Given the description of an element on the screen output the (x, y) to click on. 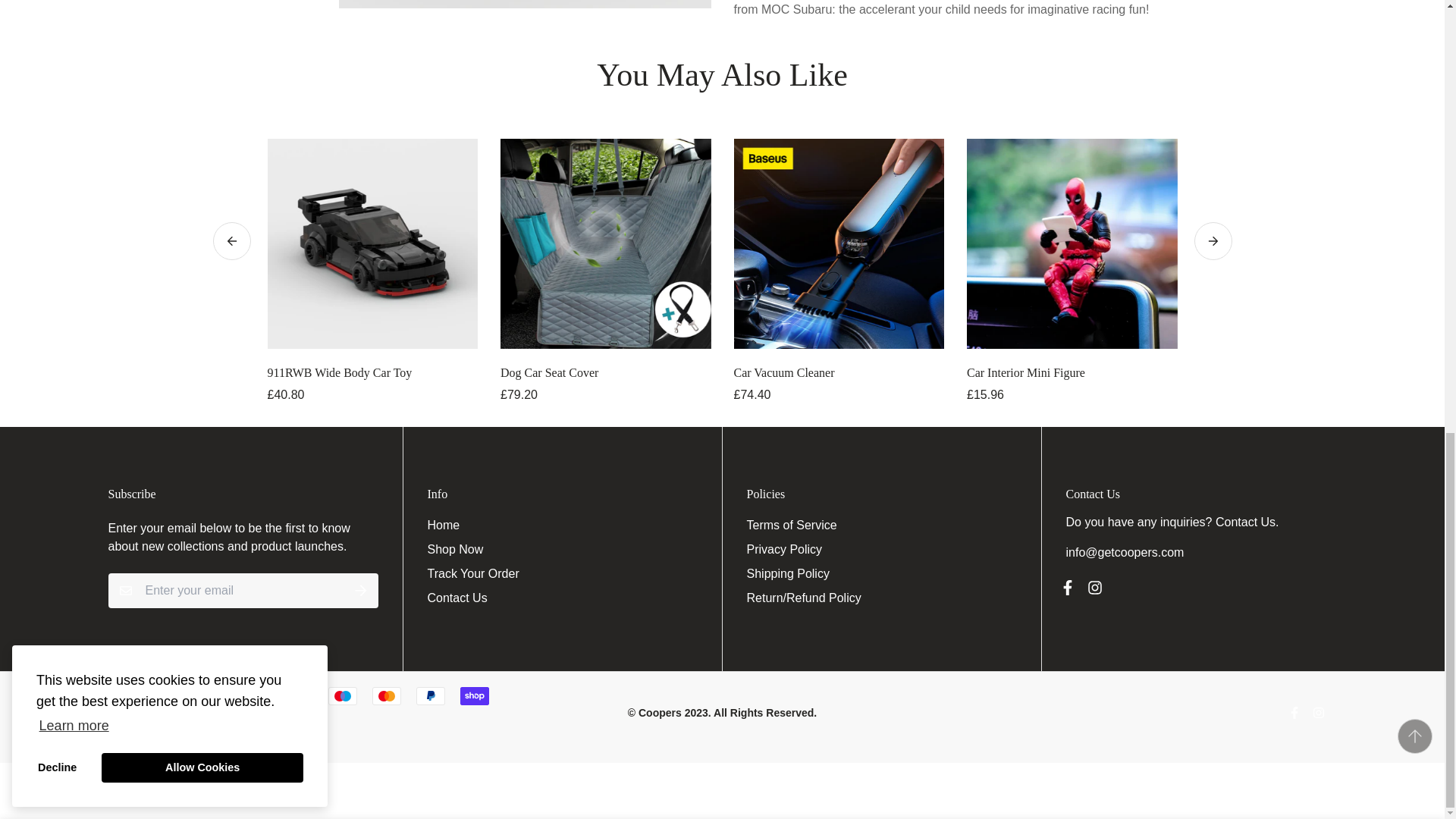
Contact Us (1245, 521)
